Given the description of an element on the screen output the (x, y) to click on. 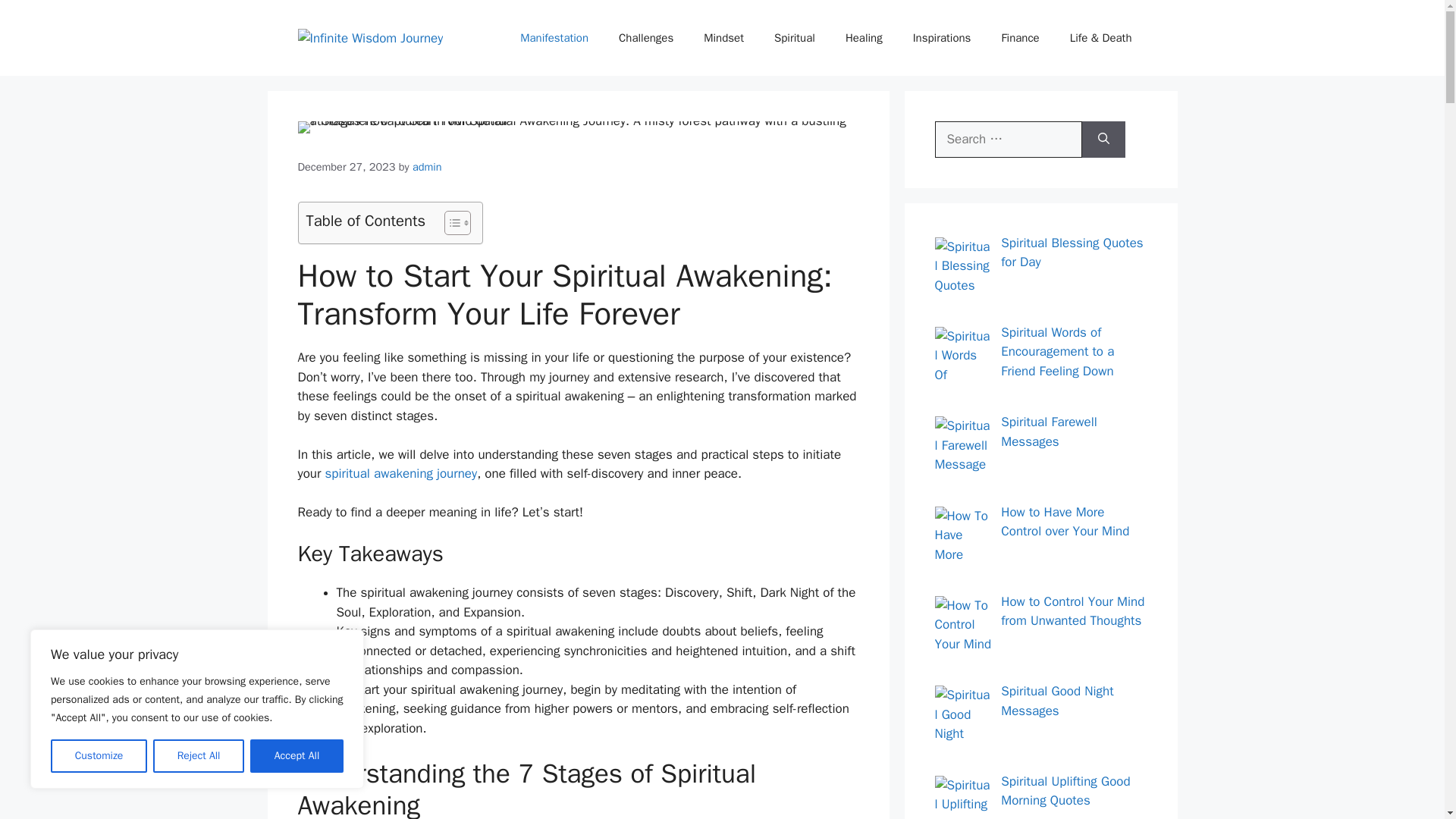
Reject All (198, 756)
Customize (98, 756)
View all posts by admin (427, 166)
Finance (1019, 37)
Challenges (646, 37)
Mindset (723, 37)
Spiritual (793, 37)
admin (427, 166)
Accept All (296, 756)
Manifestation (554, 37)
